Given the description of an element on the screen output the (x, y) to click on. 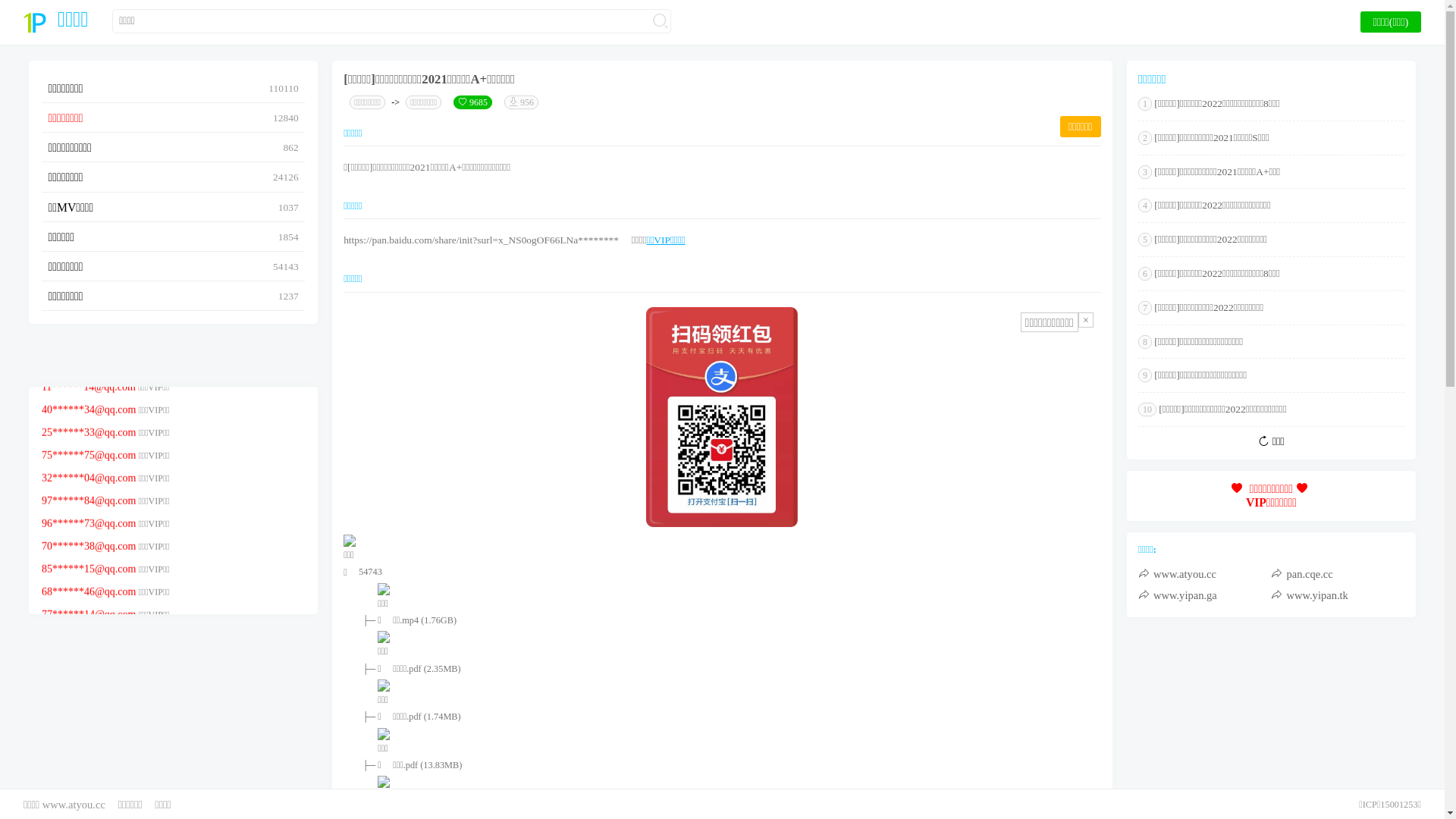
www.atyou.cc Element type: text (1204, 573)
956 Element type: text (521, 102)
pan.cqe.cc Element type: text (1337, 573)
www.yipan.ga Element type: text (1204, 594)
www.yipan.tk Element type: text (1337, 594)
9685 Element type: text (472, 102)
